Given the description of an element on the screen output the (x, y) to click on. 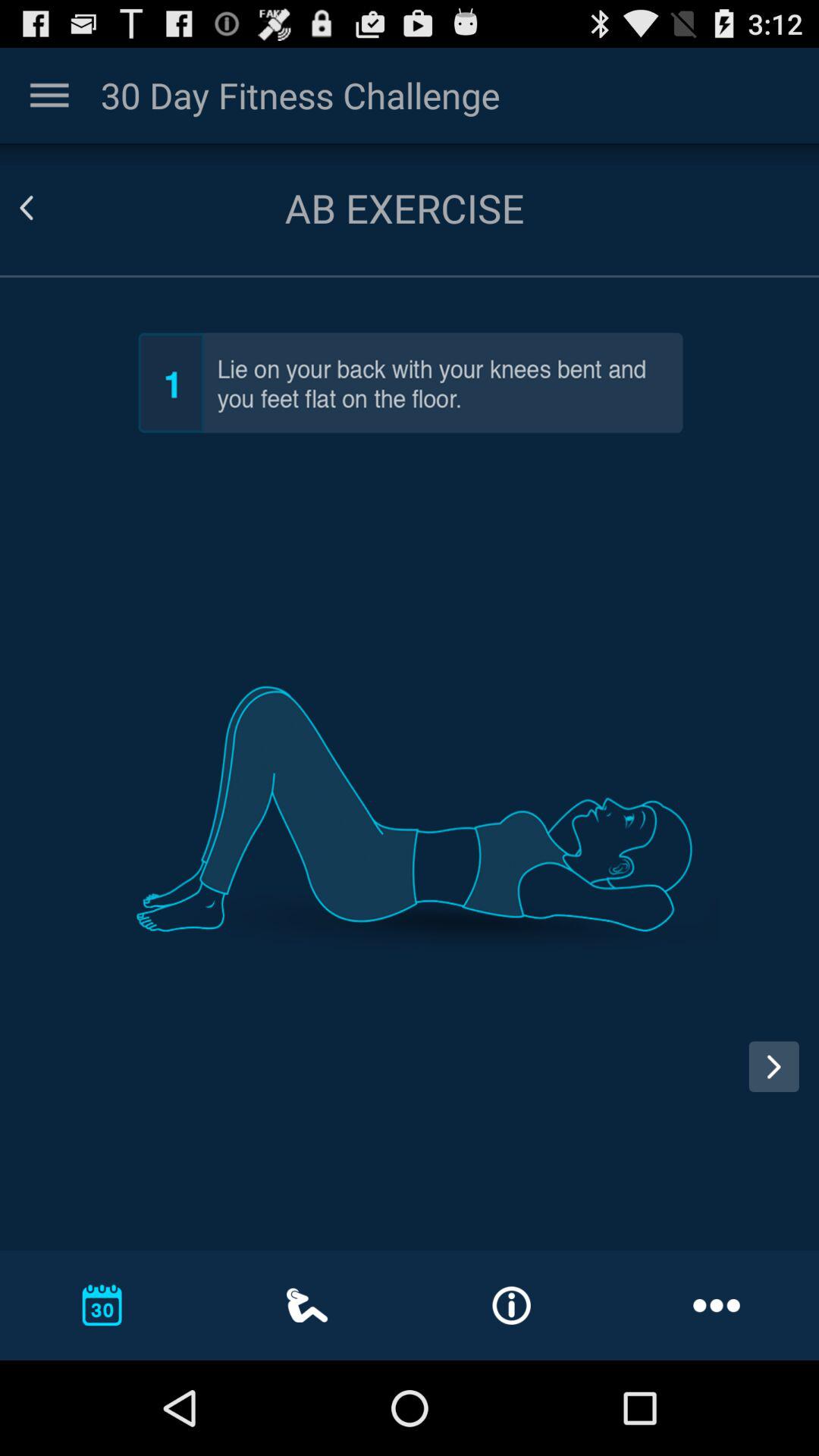
go back (44, 208)
